Given the description of an element on the screen output the (x, y) to click on. 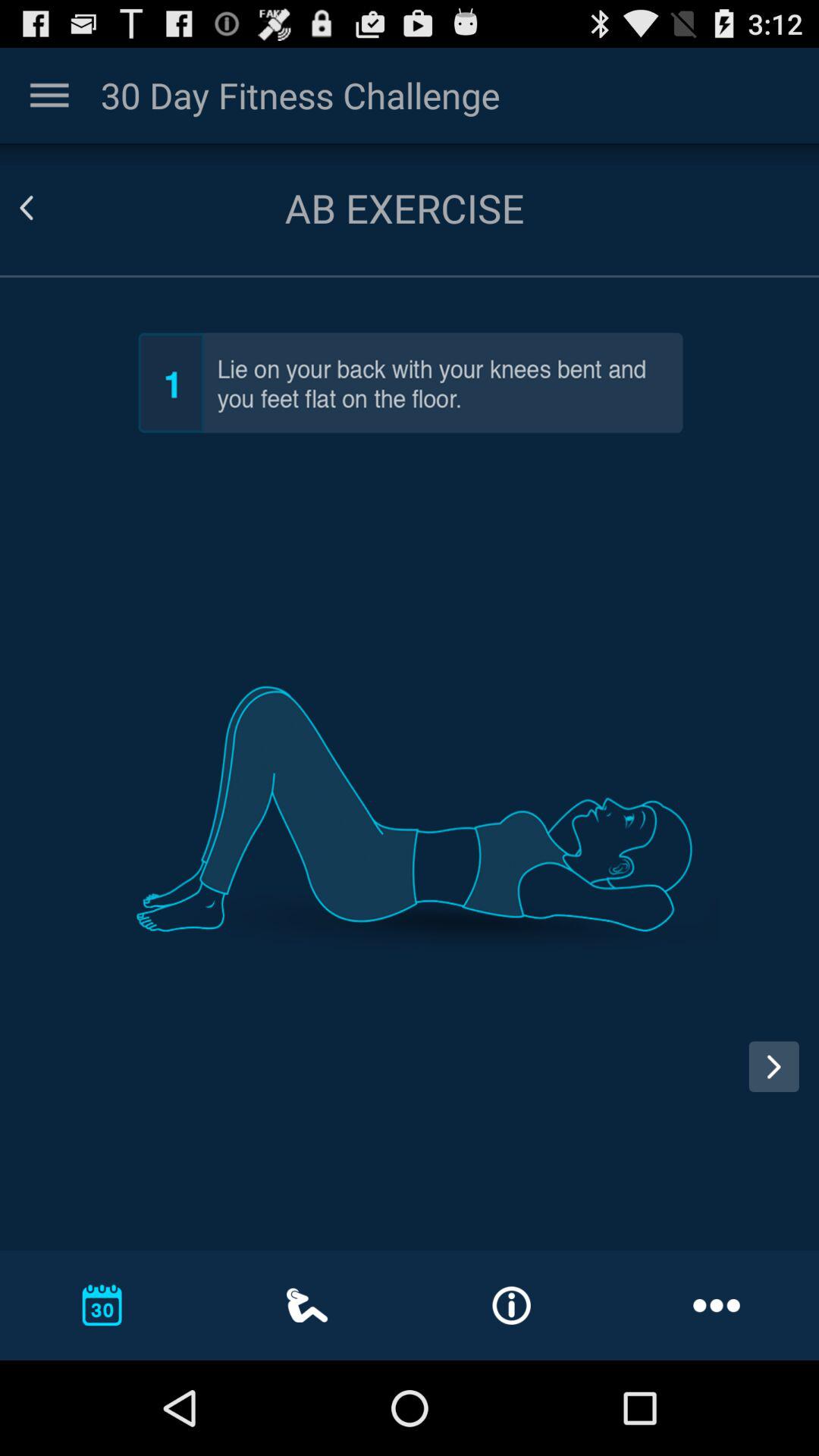
go back (44, 208)
